Given the description of an element on the screen output the (x, y) to click on. 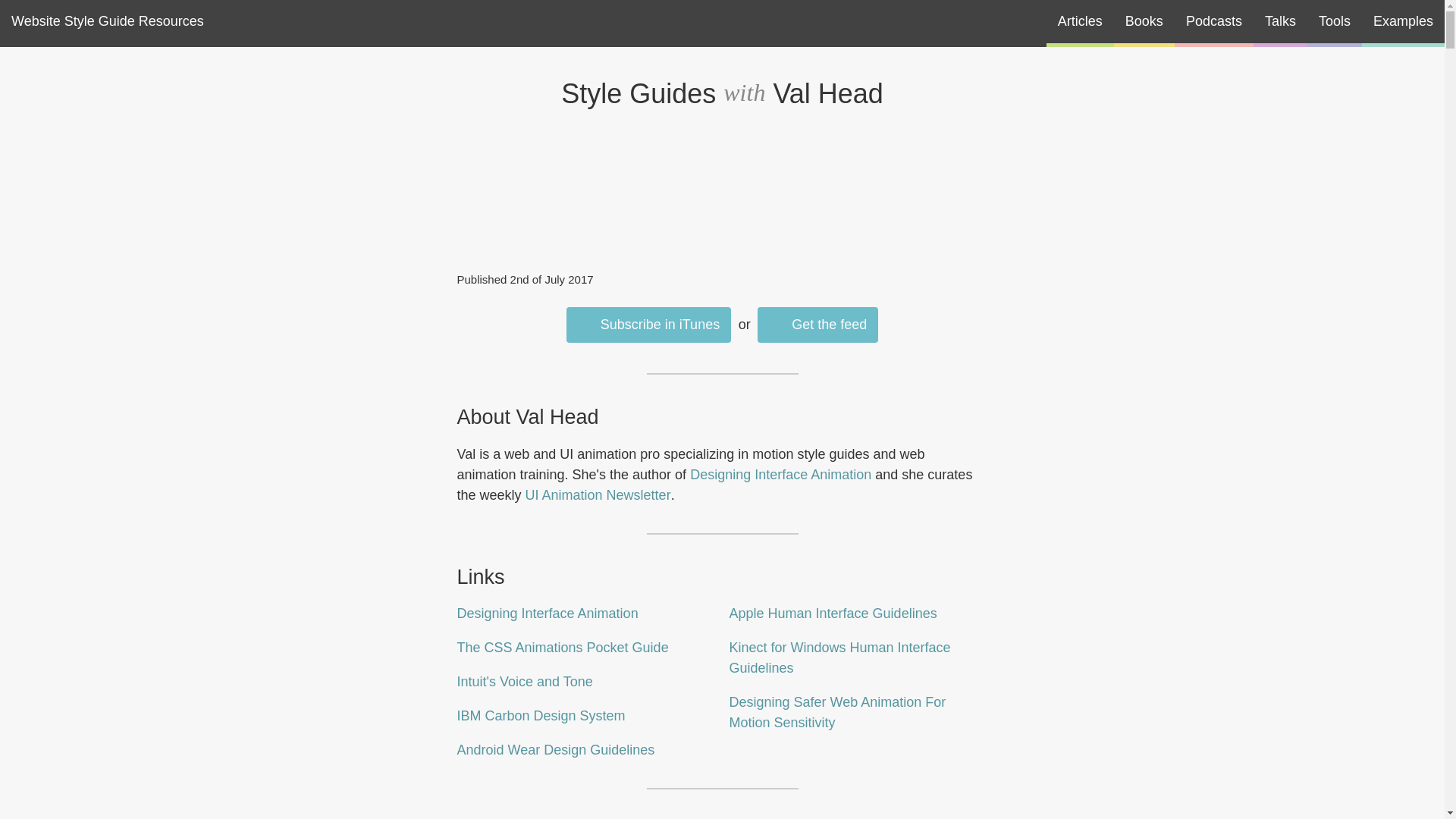
Podcasts (1213, 21)
The CSS Animations Pocket Guide (562, 647)
Subscribe in iTunes (648, 325)
Apple Human Interface Guidelines (833, 613)
Intuit's Voice and Tone (524, 681)
Books (1143, 21)
Android Wear Design Guidelines (555, 749)
Kinect for Windows Human Interface Guidelines (839, 657)
Designing Interface Animation (780, 474)
Designing Interface Animation (547, 613)
UI Animation Newsletter (598, 494)
Talks (1280, 21)
Get the feed (817, 325)
IBM Carbon Design System (540, 715)
Articles (1079, 21)
